Given the description of an element on the screen output the (x, y) to click on. 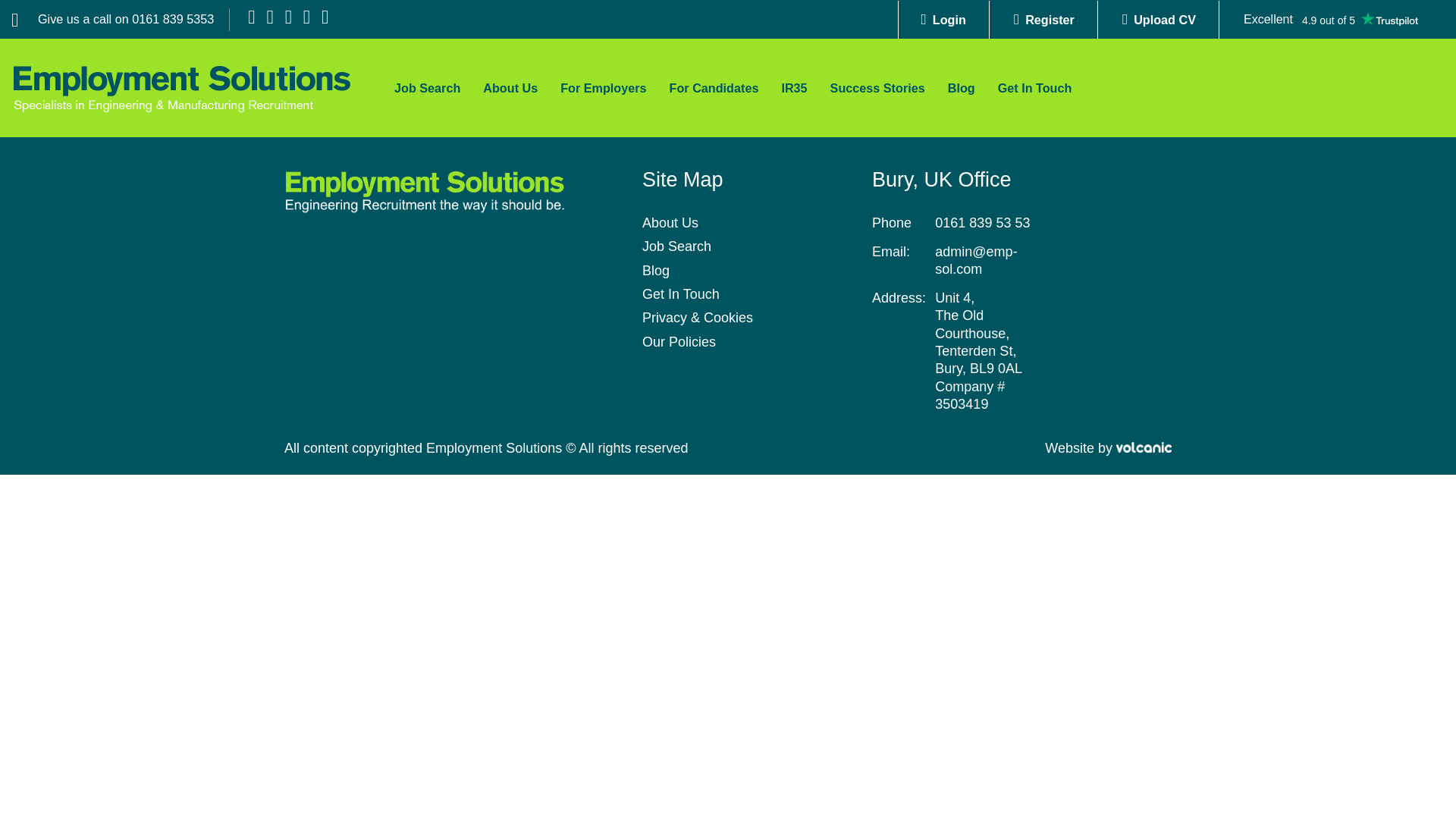
Customer reviews powered by Trustpilot (1330, 19)
Go to homepage (181, 87)
